Given the description of an element on the screen output the (x, y) to click on. 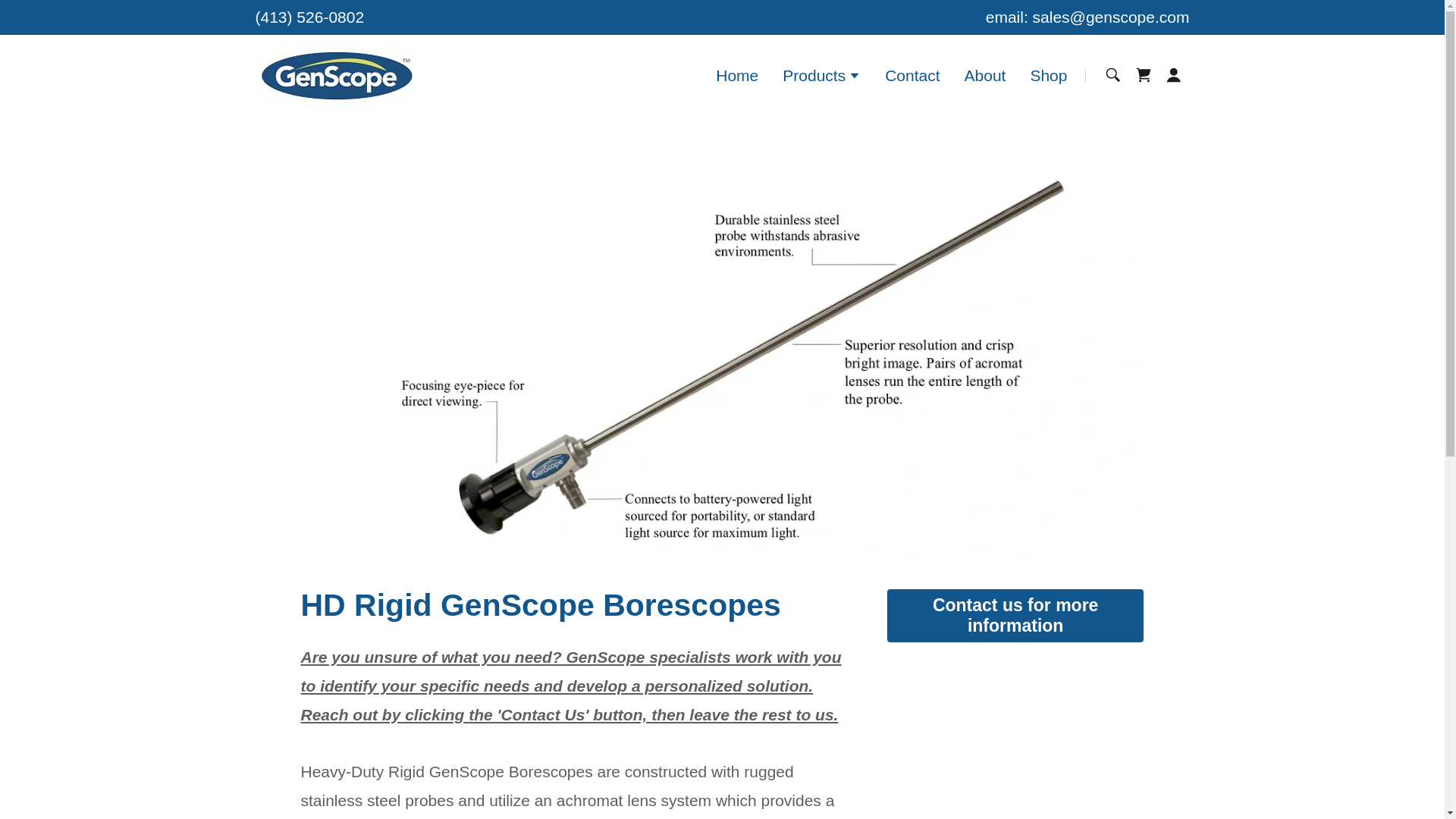
Shop (1048, 74)
Contact (911, 74)
Products (821, 76)
Genscope, Inc. (335, 73)
Home (736, 74)
About (984, 74)
